Given the description of an element on the screen output the (x, y) to click on. 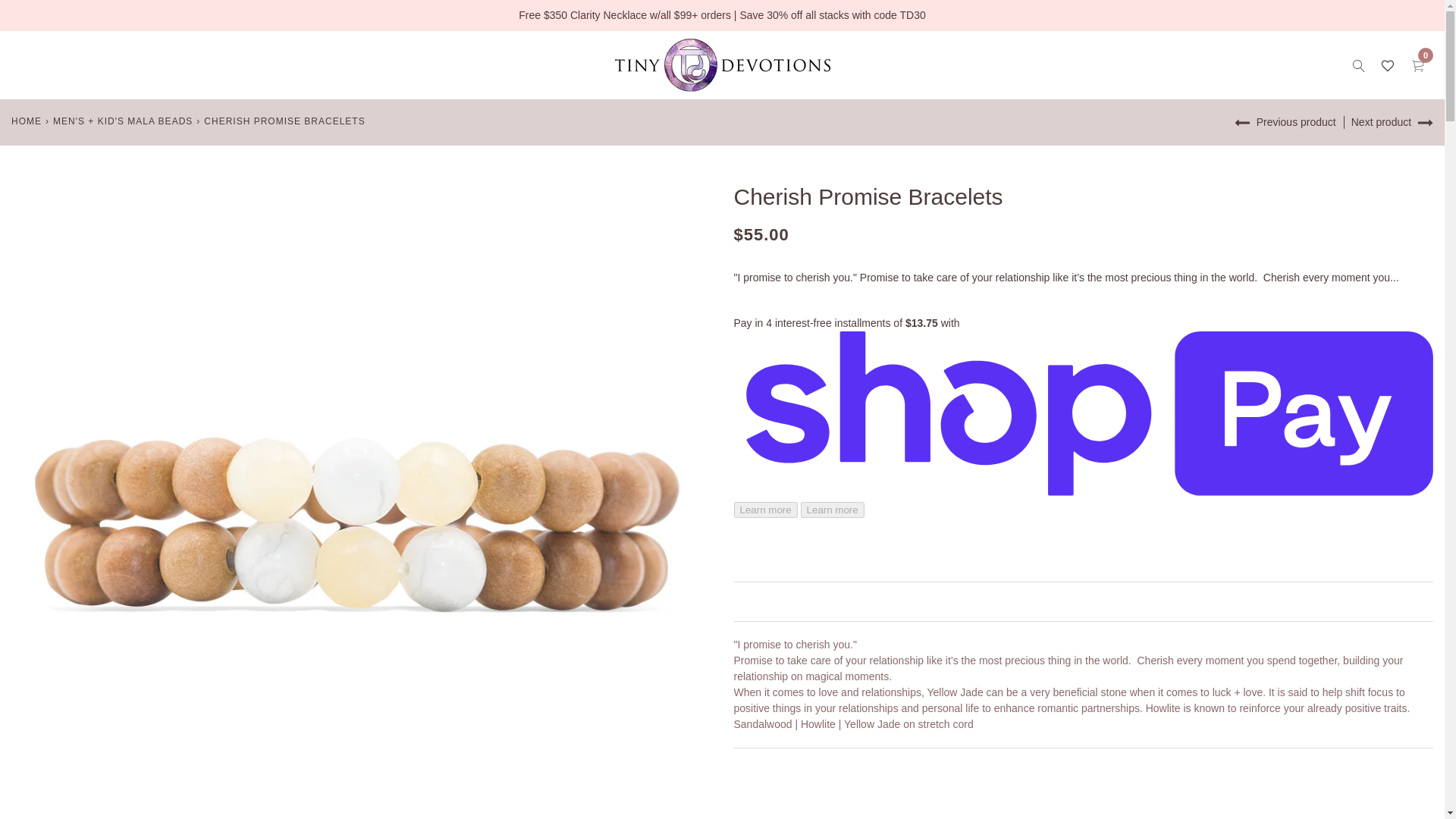
Commitment Promise Bracelets (1285, 122)
Support Promise Bracelets (1391, 122)
Home (26, 120)
